Given the description of an element on the screen output the (x, y) to click on. 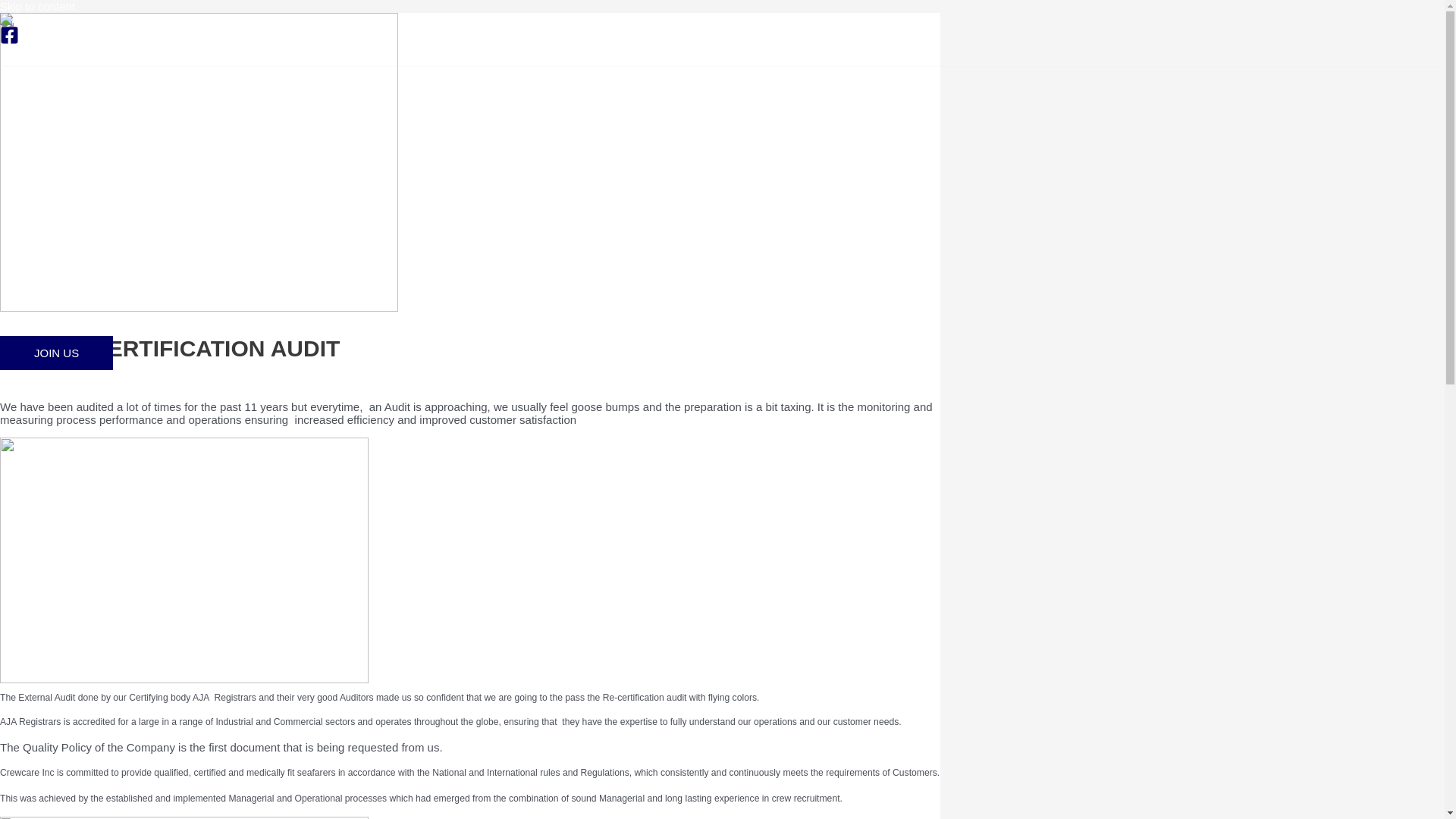
Fleet (65, 208)
Skip to content (37, 6)
JOIN US (56, 352)
View all posts by admin (116, 379)
Skip to content (37, 6)
Contact (65, 301)
Home (65, 116)
About (65, 162)
admin (116, 379)
Breakthrough (39, 379)
Careers (65, 254)
